Given the description of an element on the screen output the (x, y) to click on. 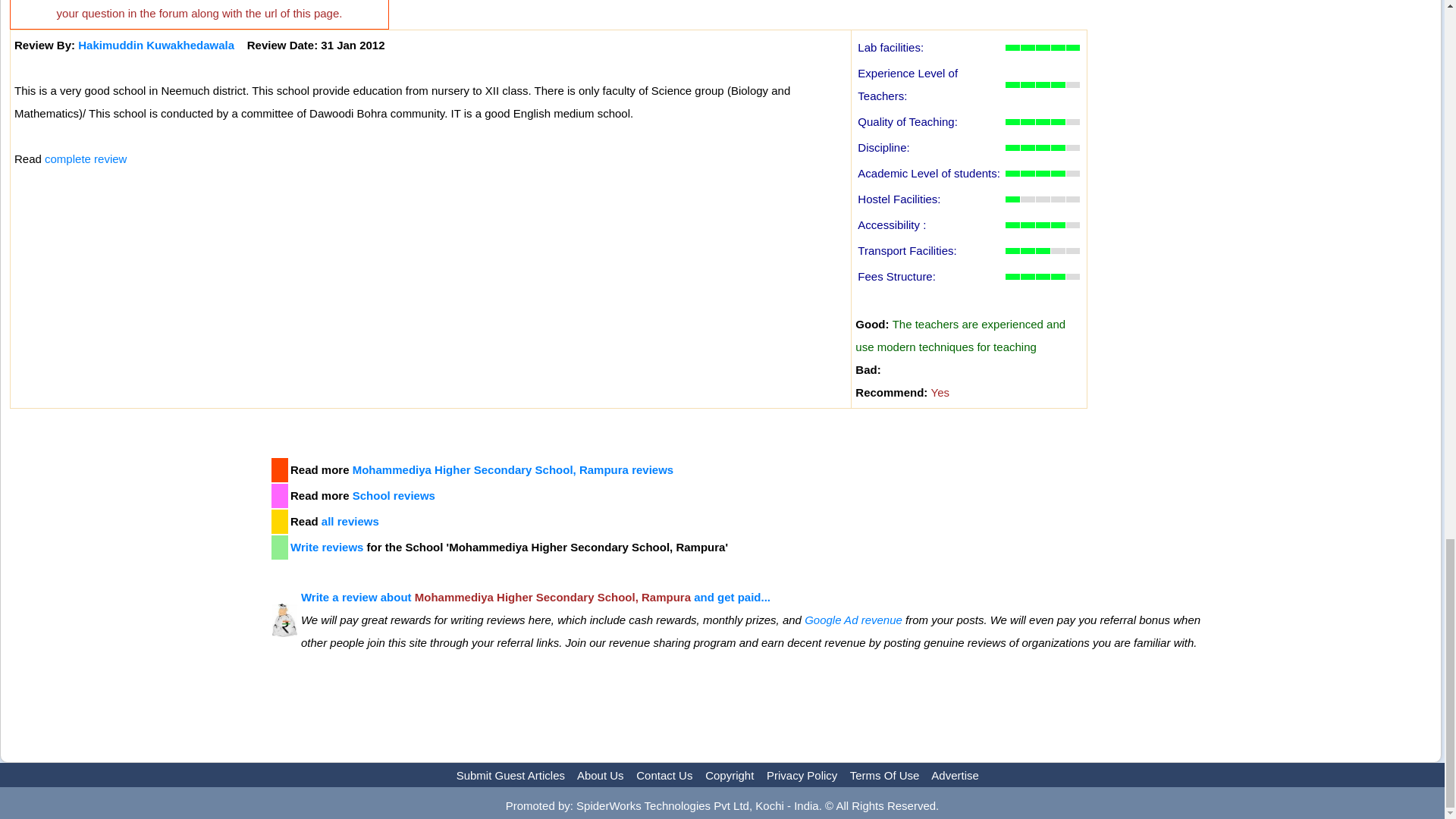
Google Ad revenue (853, 619)
3rd party ad content (138, 562)
Hakimuddin Kuwakhedawala (156, 44)
complete review (85, 158)
Mohammediya Higher Secondary School, Rampura reviews (512, 469)
Write reviews (325, 546)
all reviews (349, 521)
School reviews (393, 495)
